Given the description of an element on the screen output the (x, y) to click on. 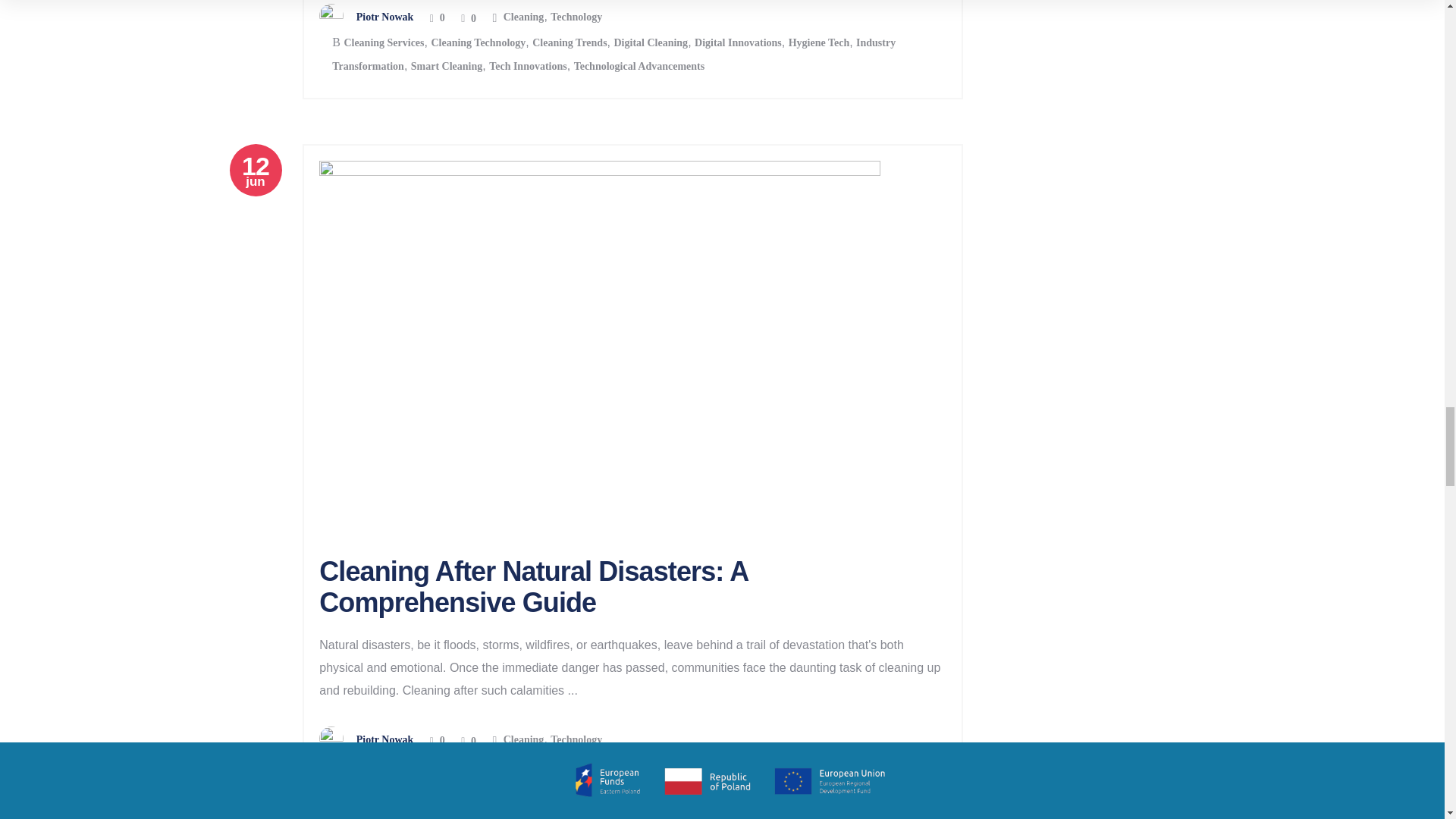
Like this (437, 18)
